Given the description of an element on the screen output the (x, y) to click on. 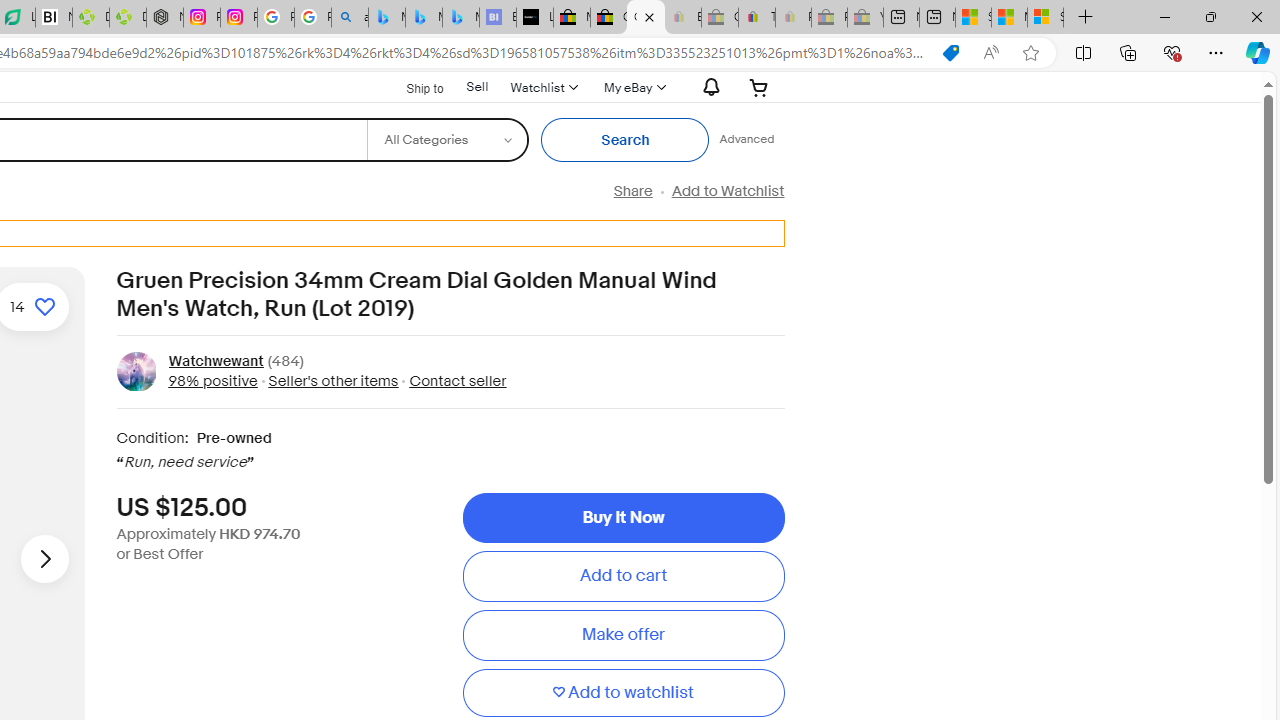
Add to Watchlist (727, 191)
Make offer (623, 635)
Add to watchlist (623, 692)
Add to watchlist (623, 692)
Add to cart (623, 576)
Sell (477, 86)
Nvidia va a poner a prueba la paciencia de los inversores (53, 17)
